Given the description of an element on the screen output the (x, y) to click on. 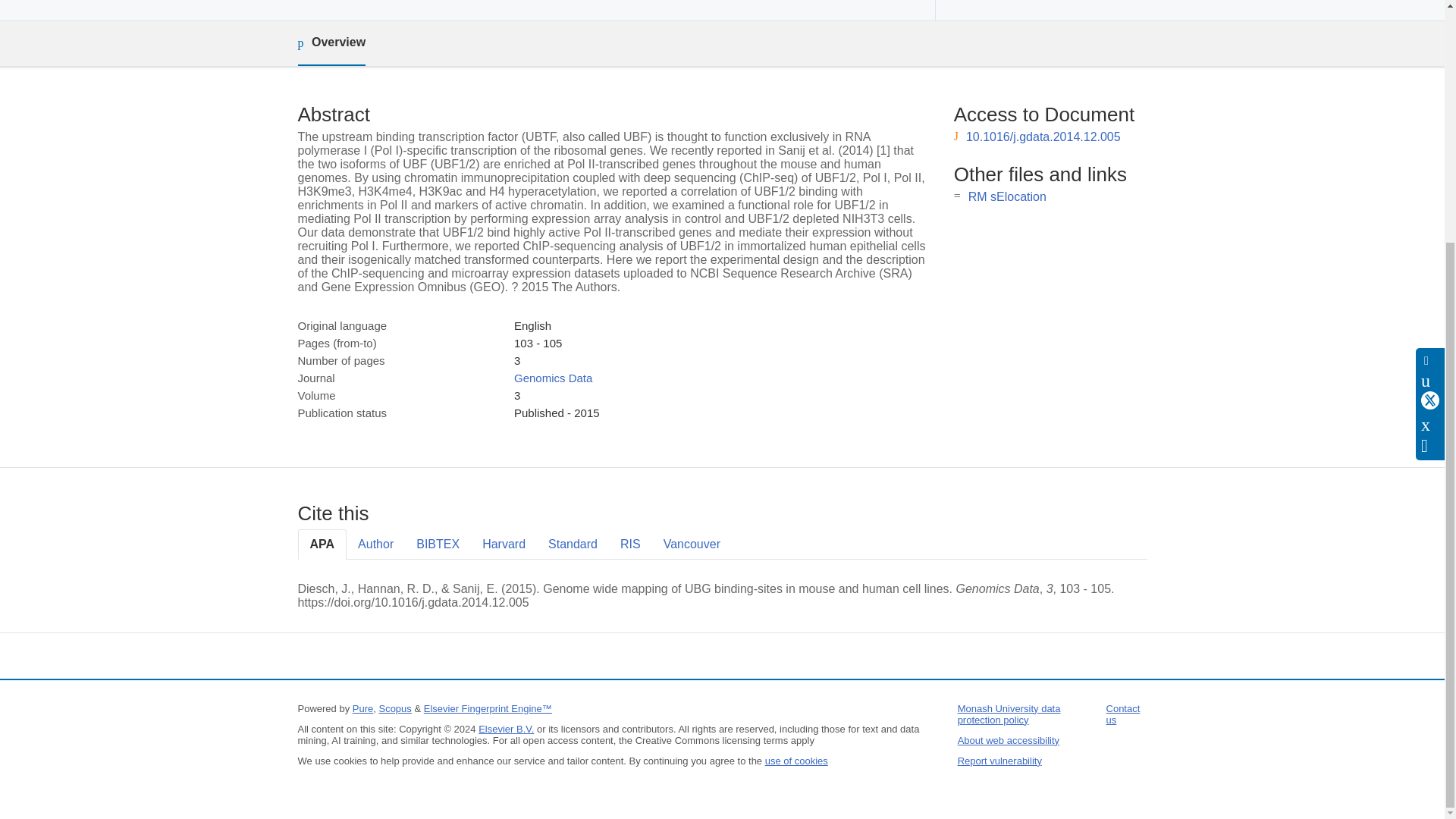
Contact us (1123, 713)
Genomics Data (552, 377)
About web accessibility (1008, 740)
Elsevier B.V. (506, 728)
use of cookies (796, 760)
Monash University data protection policy (1009, 713)
Pure (362, 708)
Report vulnerability (1000, 760)
RM sElocation (1007, 196)
Overview (331, 43)
Scopus (394, 708)
